Given the description of an element on the screen output the (x, y) to click on. 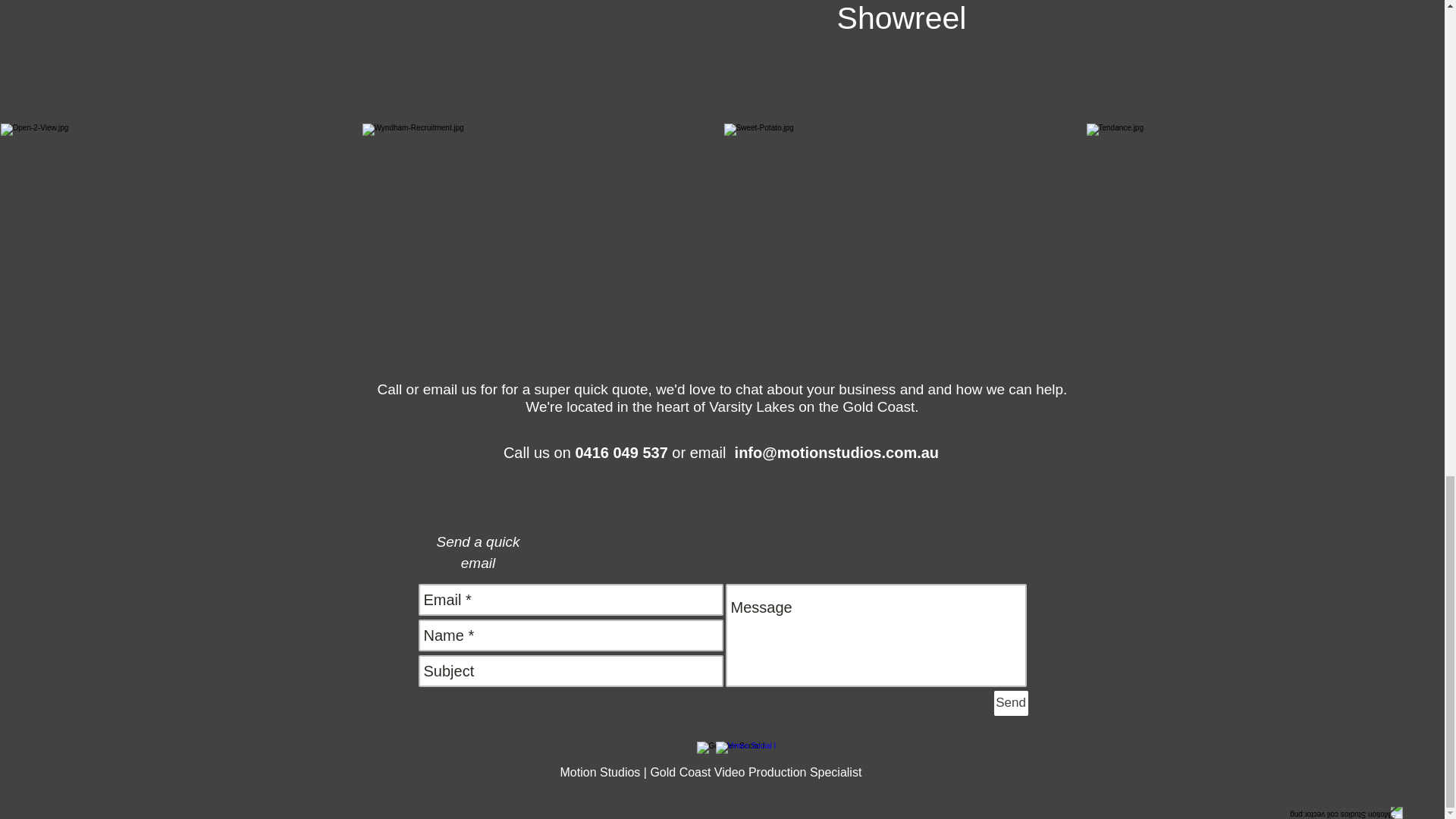
Send (1009, 703)
0416 049 537 (620, 452)
Showreel (901, 59)
